Given the description of an element on the screen output the (x, y) to click on. 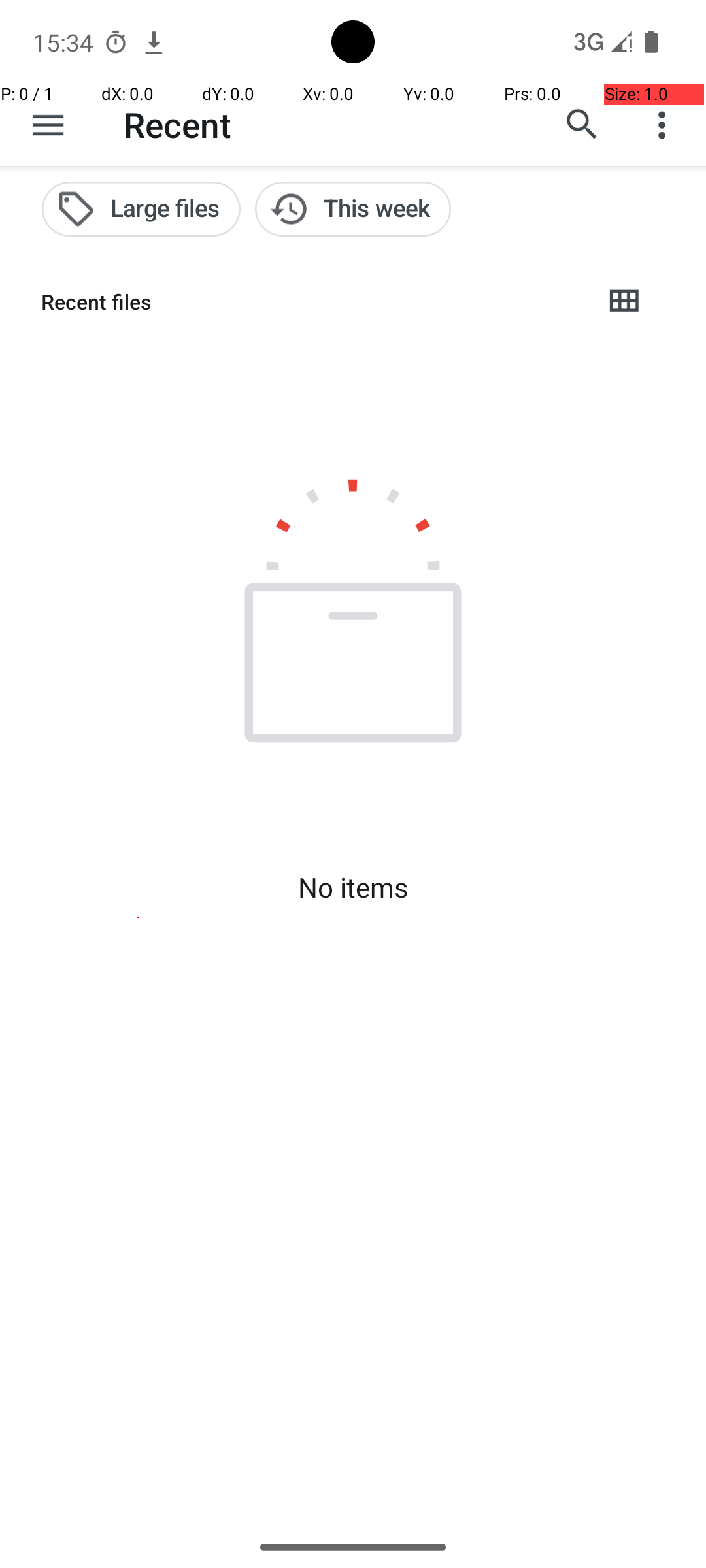
Chrome notification: www.espn.com Element type: android.widget.ImageView (153, 41)
